Given the description of an element on the screen output the (x, y) to click on. 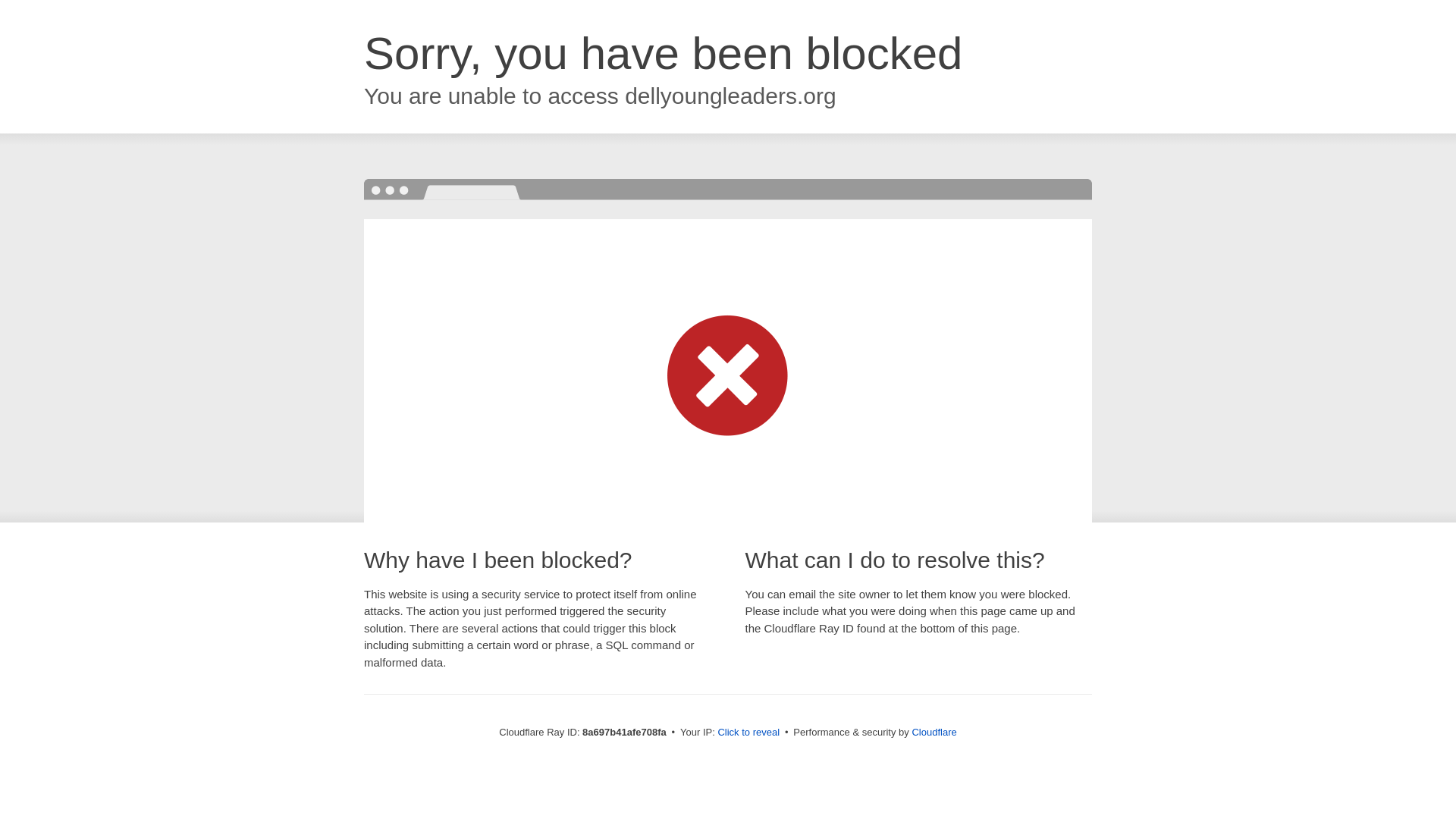
Click to reveal (747, 732)
Cloudflare (933, 731)
